Given the description of an element on the screen output the (x, y) to click on. 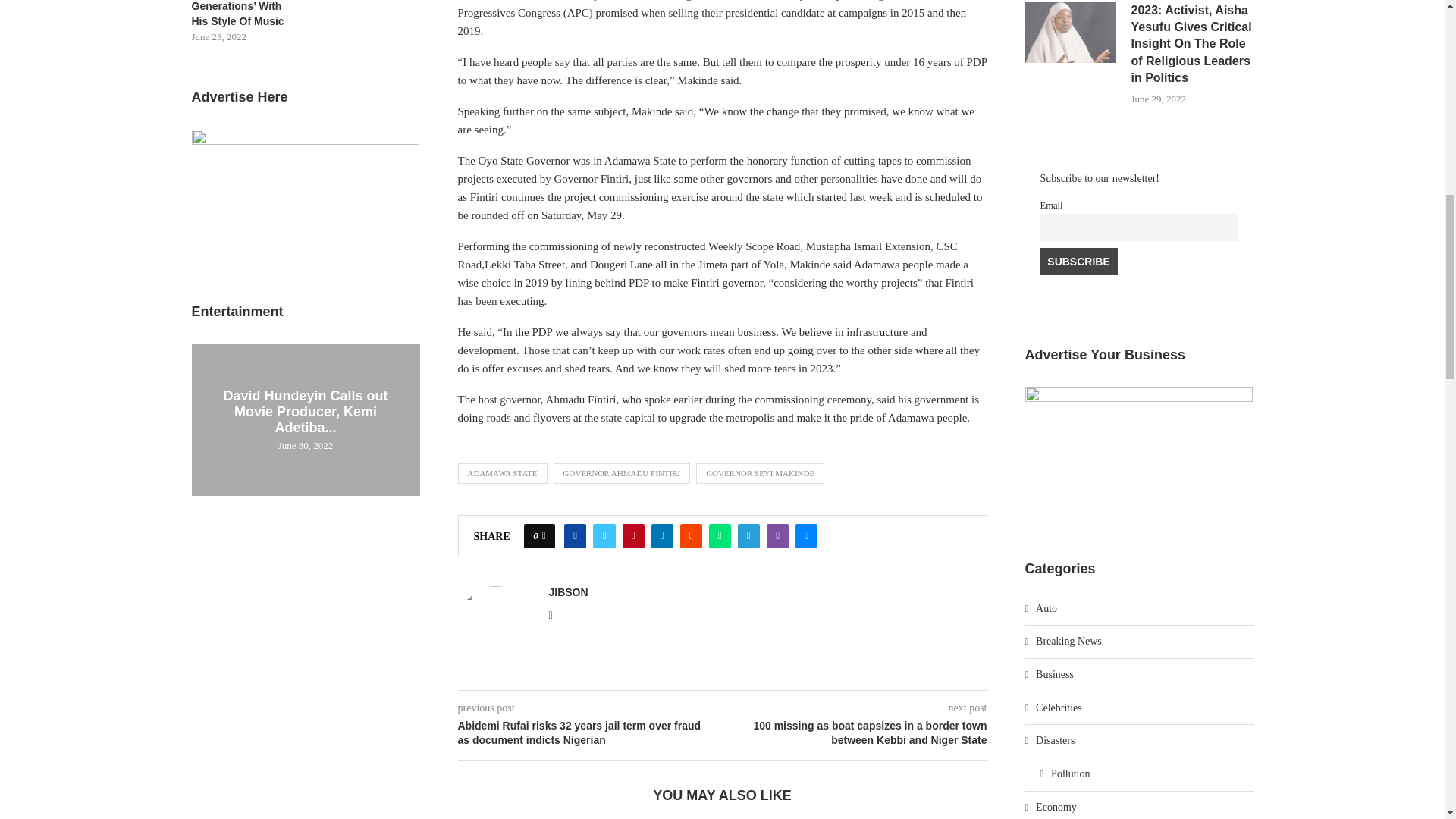
Author Jibson (568, 591)
Subscribe (1079, 261)
